Given the description of an element on the screen output the (x, y) to click on. 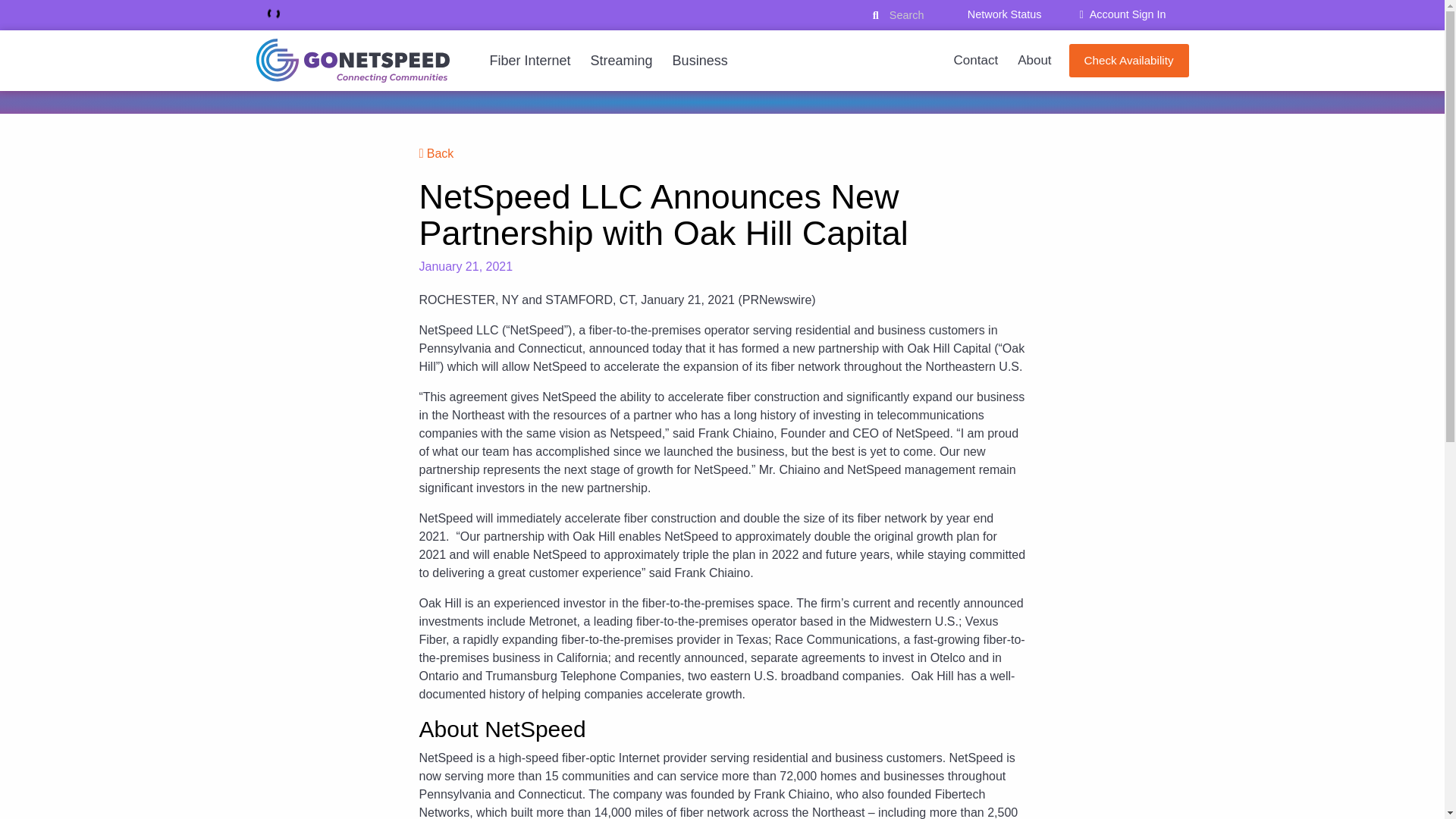
Business (700, 60)
Contact (976, 60)
Network Status (1004, 13)
Account Sign In (1121, 13)
Search (902, 15)
About (1034, 60)
Streaming (621, 60)
Fiber Internet (529, 60)
Check Availability (1128, 60)
